Given the description of an element on the screen output the (x, y) to click on. 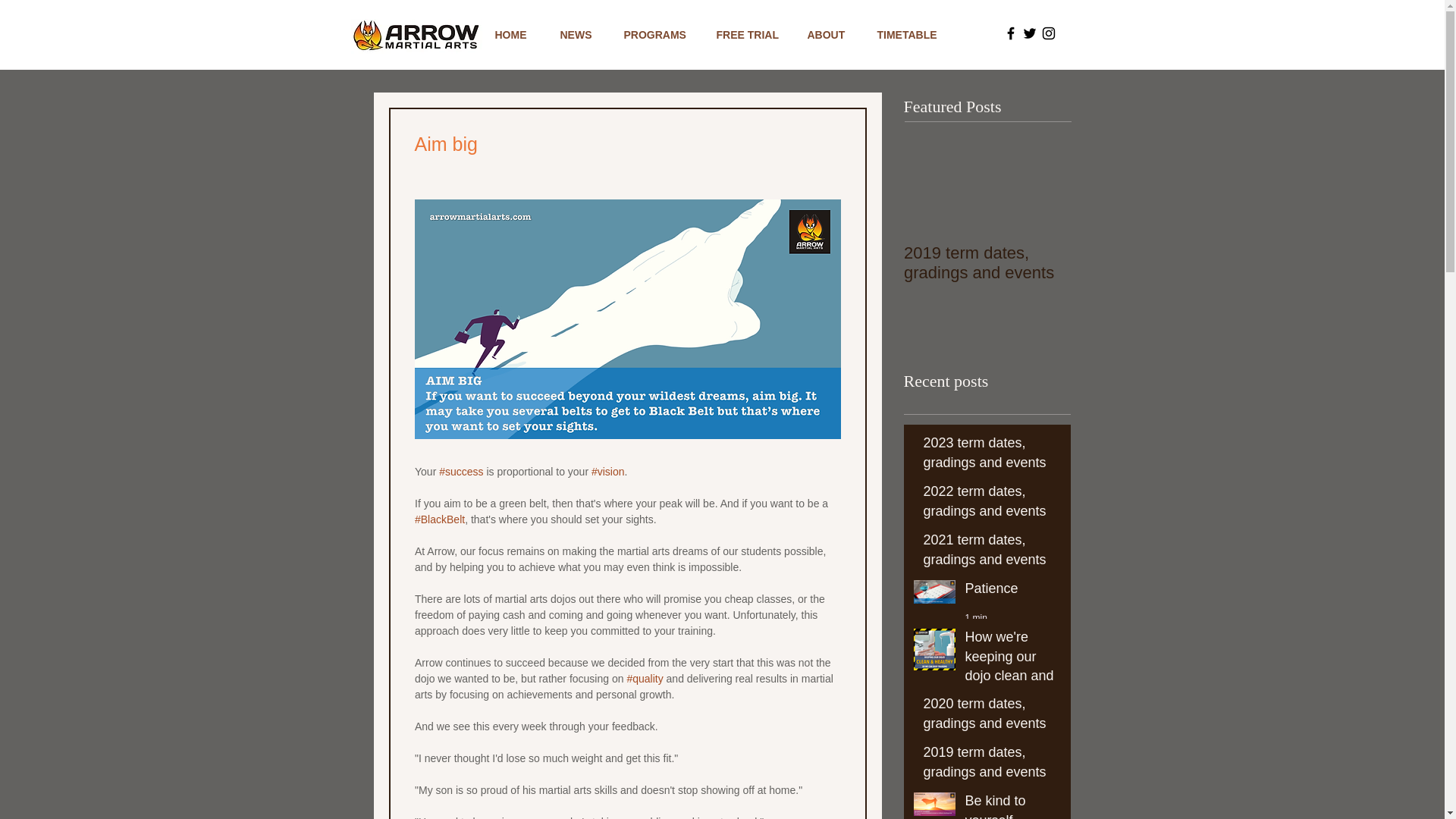
1 min (975, 617)
TIMETABLE (910, 34)
FREE TRIAL (750, 34)
ABOUT (831, 34)
PROGRAMS (658, 34)
NEWS (580, 34)
HOME (515, 34)
